Given the description of an element on the screen output the (x, y) to click on. 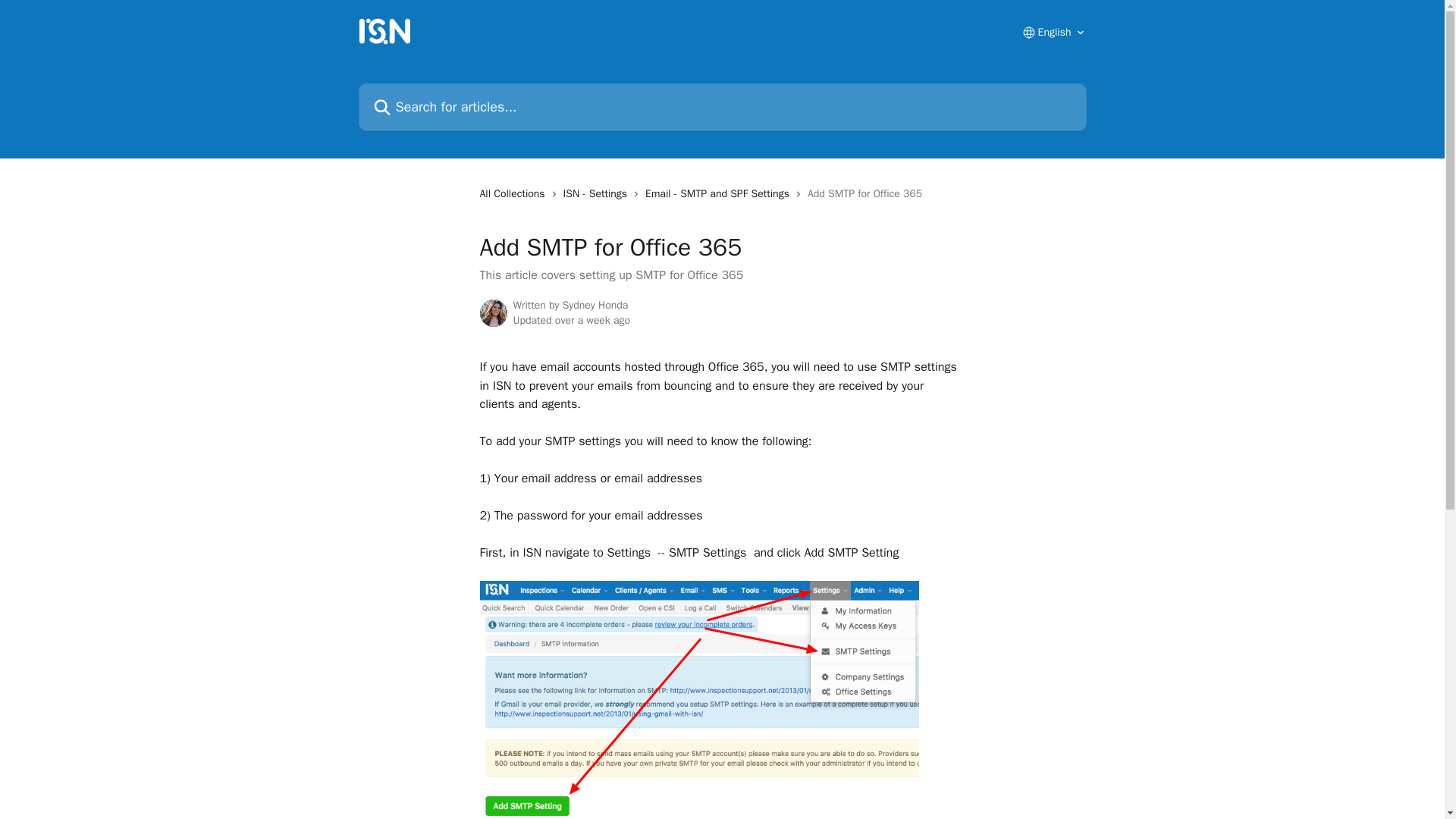
ISN - Settings (598, 193)
All Collections (514, 193)
Email - SMTP and SPF Settings (719, 193)
